Given the description of an element on the screen output the (x, y) to click on. 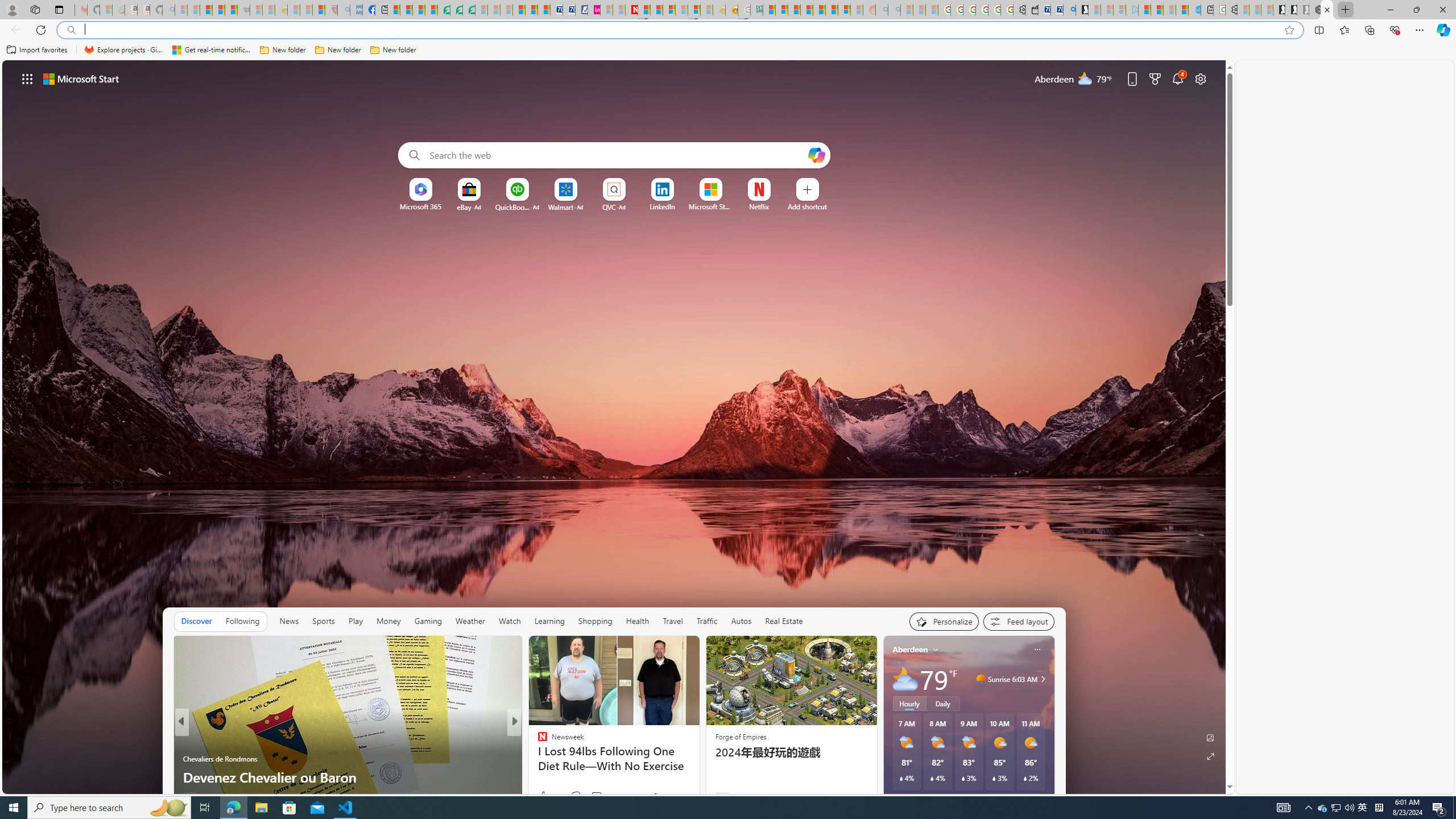
Travel (672, 621)
Student Loan Update: Forgiveness Program Ends This Month (806, 9)
Autos (740, 621)
Dislike (575, 795)
New Report Confirms 2023 Was Record Hot | Watch (230, 9)
Microsoft-Report a Concern to Bing - Sleeping (105, 9)
Open Copilot (815, 154)
